Given the description of an element on the screen output the (x, y) to click on. 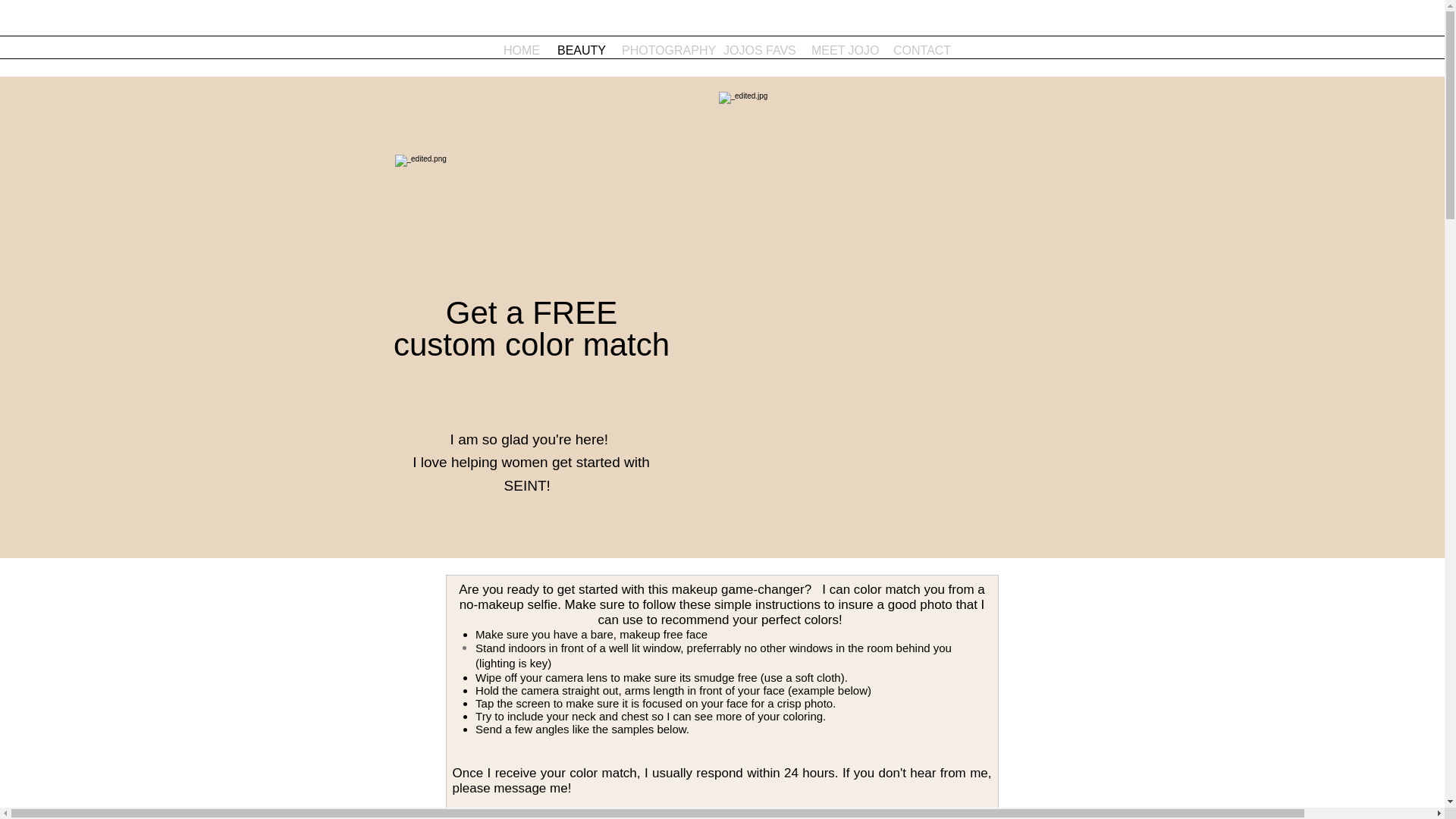
CONTACT (917, 50)
JOJOS FAVS (755, 50)
BEAUTY (578, 50)
MEET JOJO (840, 50)
PHOTOGRAPHY (660, 50)
HOME (519, 50)
